Given the description of an element on the screen output the (x, y) to click on. 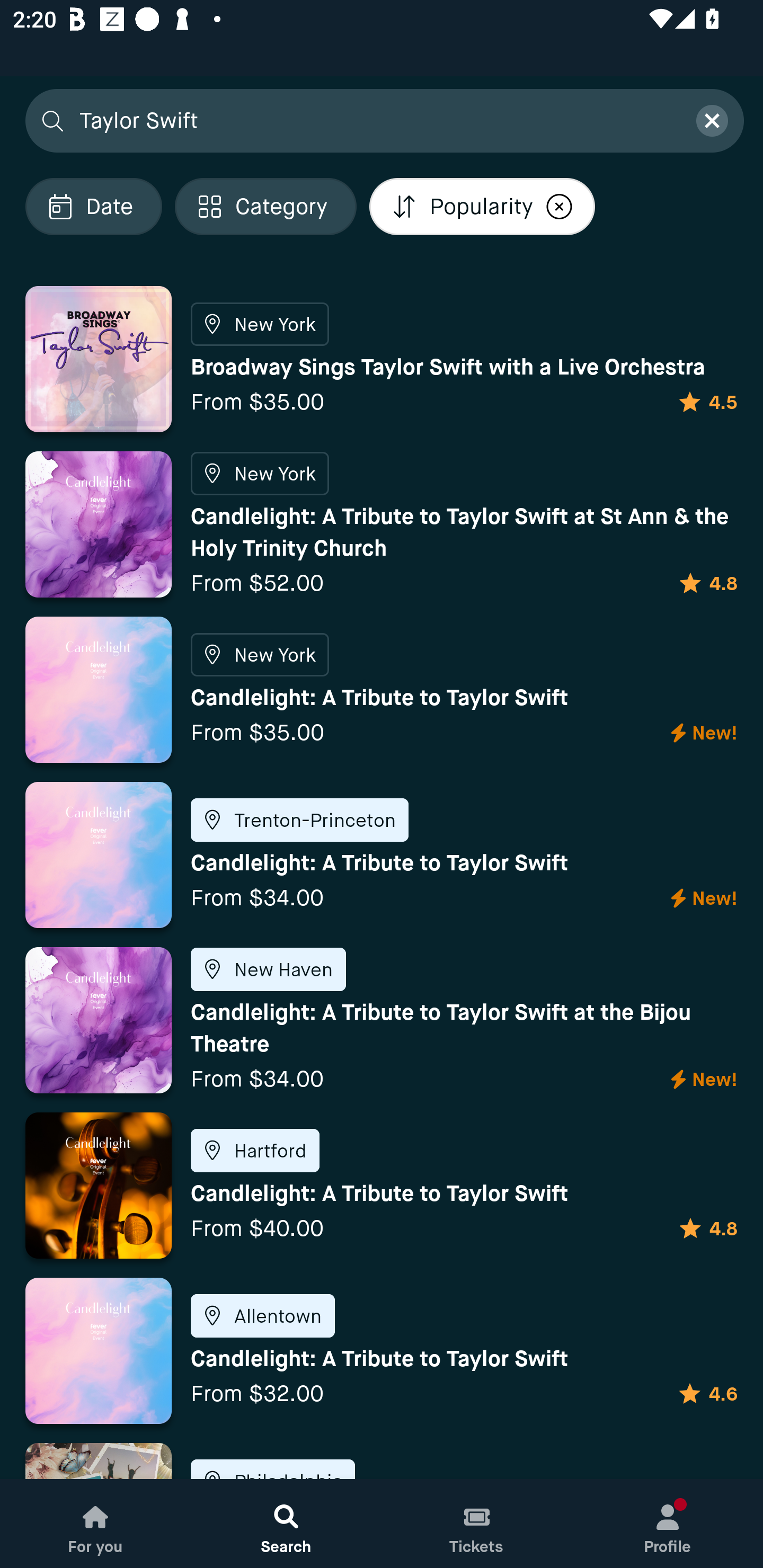
Taylor Swift (376, 120)
Localized description Date (93, 205)
Localized description Category (265, 205)
For you (95, 1523)
Tickets (476, 1523)
Profile, New notification Profile (667, 1523)
